Given the description of an element on the screen output the (x, y) to click on. 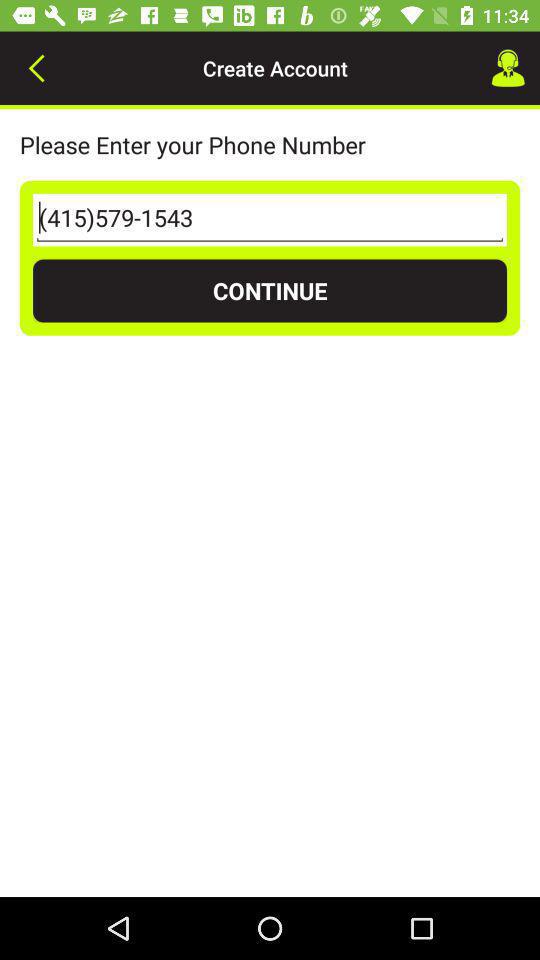
select item to the right of the create account icon (508, 67)
